Given the description of an element on the screen output the (x, y) to click on. 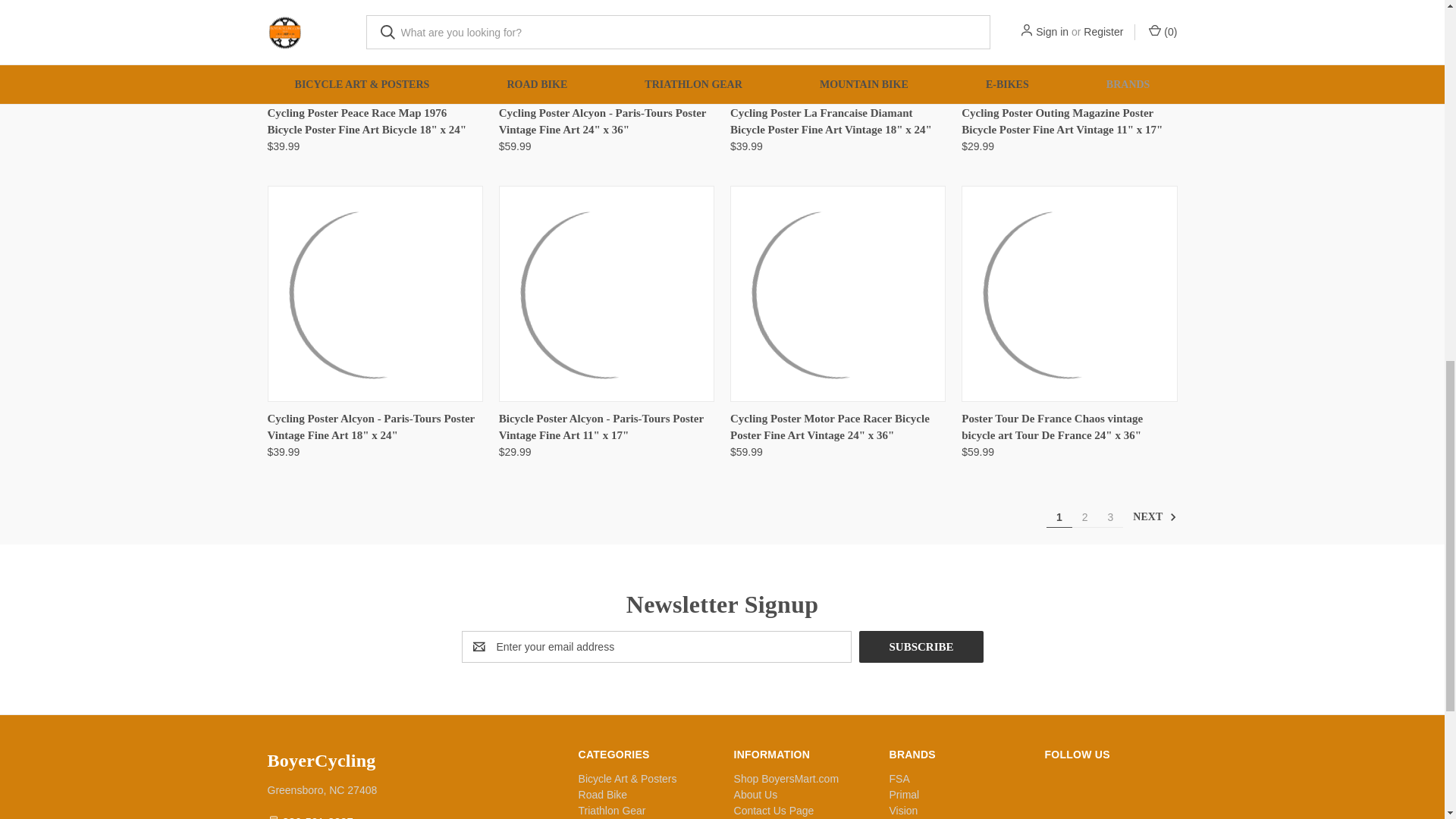
Subscribe (920, 646)
